Given the description of an element on the screen output the (x, y) to click on. 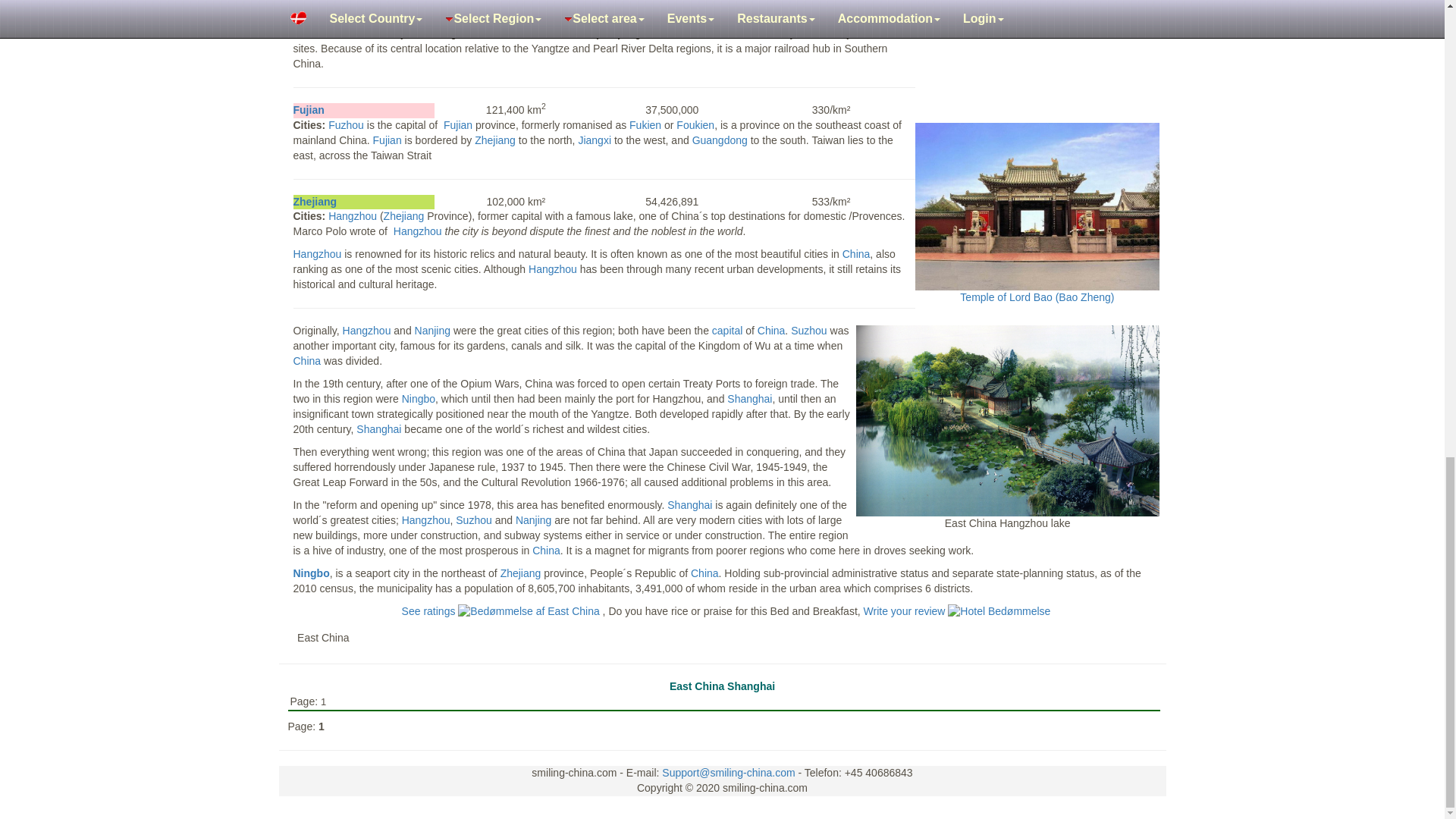
Hangzhou (353, 215)
Fuzhou (346, 124)
China (726, 330)
Nanjing (431, 330)
Suzhou (808, 330)
Shanghai (307, 110)
Shanghai (310, 4)
Zhejiang (314, 201)
Hangzhou (366, 330)
